Given the description of an element on the screen output the (x, y) to click on. 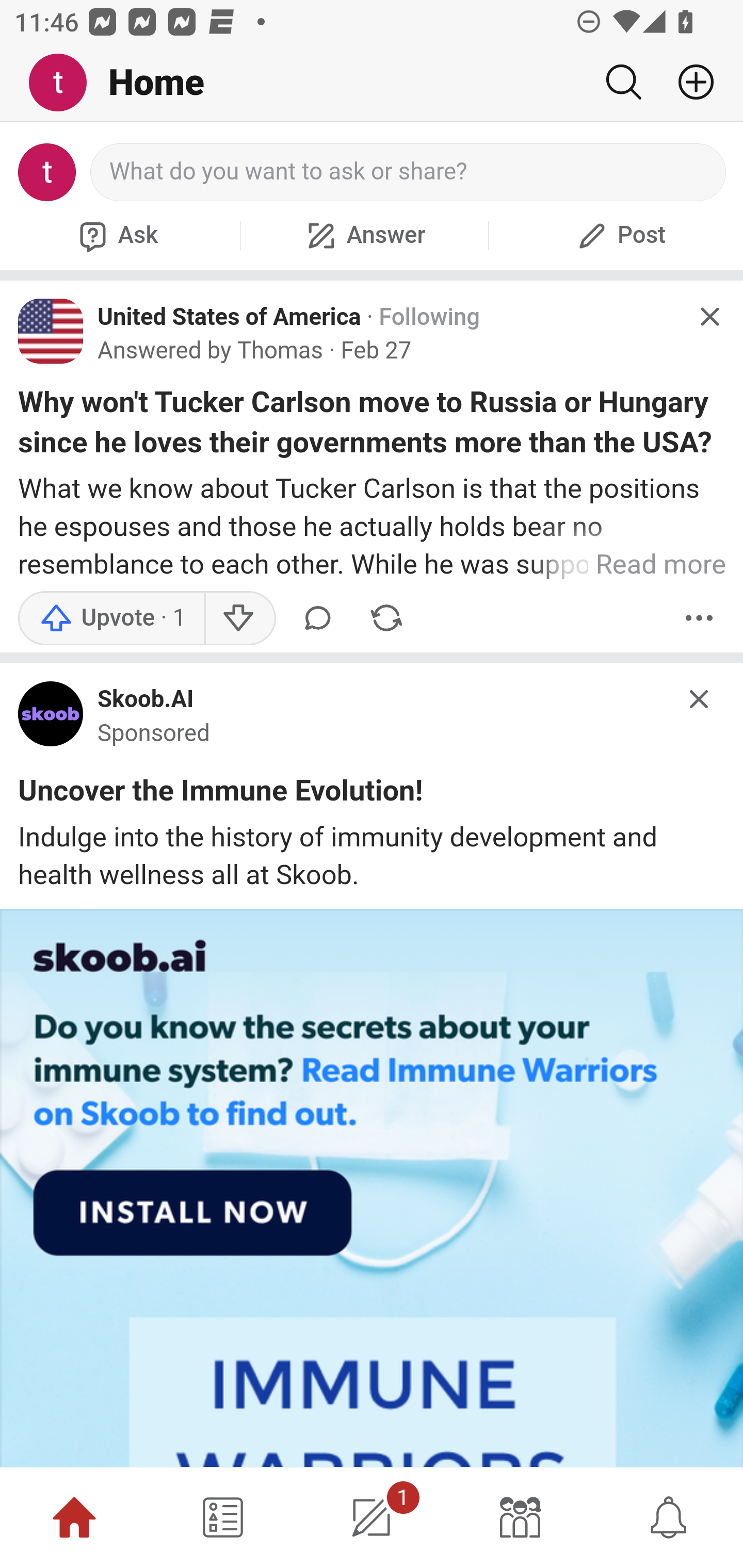
Me (64, 83)
Search (623, 82)
Add (688, 82)
What do you want to ask or share? (408, 172)
Ask (116, 234)
Answer (364, 234)
Post (618, 234)
Hide (709, 316)
Icon for United States of America (50, 330)
United States of America (229, 316)
Following (428, 316)
Upvote (111, 617)
Downvote (238, 617)
Comment (317, 617)
Share (386, 617)
More (699, 617)
Hide (699, 699)
main-qimg-1ebea3e07fd93bdc180c2ff967774d01 (50, 717)
Skoob.AI (145, 700)
Sponsored (154, 733)
Uncover the Immune Evolution! (220, 794)
1 (371, 1517)
